Given the description of an element on the screen output the (x, y) to click on. 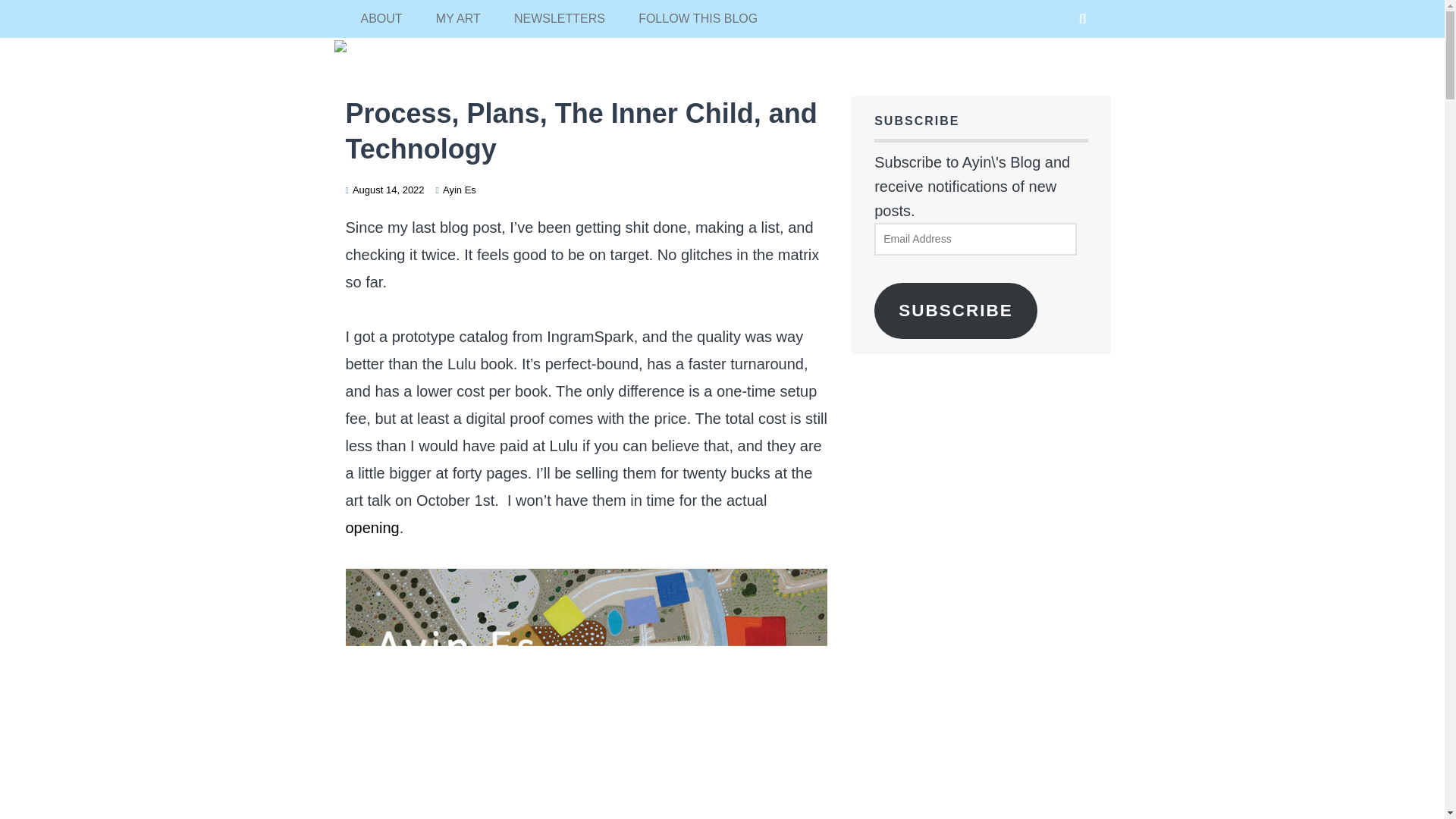
MY ART (458, 18)
NEWSLETTERS (559, 18)
FOLLOW THIS BLOG (698, 18)
Process, Plans, The Inner Child, and Technology (581, 130)
opening (372, 527)
August 14, 2022 (388, 189)
Ayin Es (459, 189)
ABOUT (381, 18)
